Given the description of an element on the screen output the (x, y) to click on. 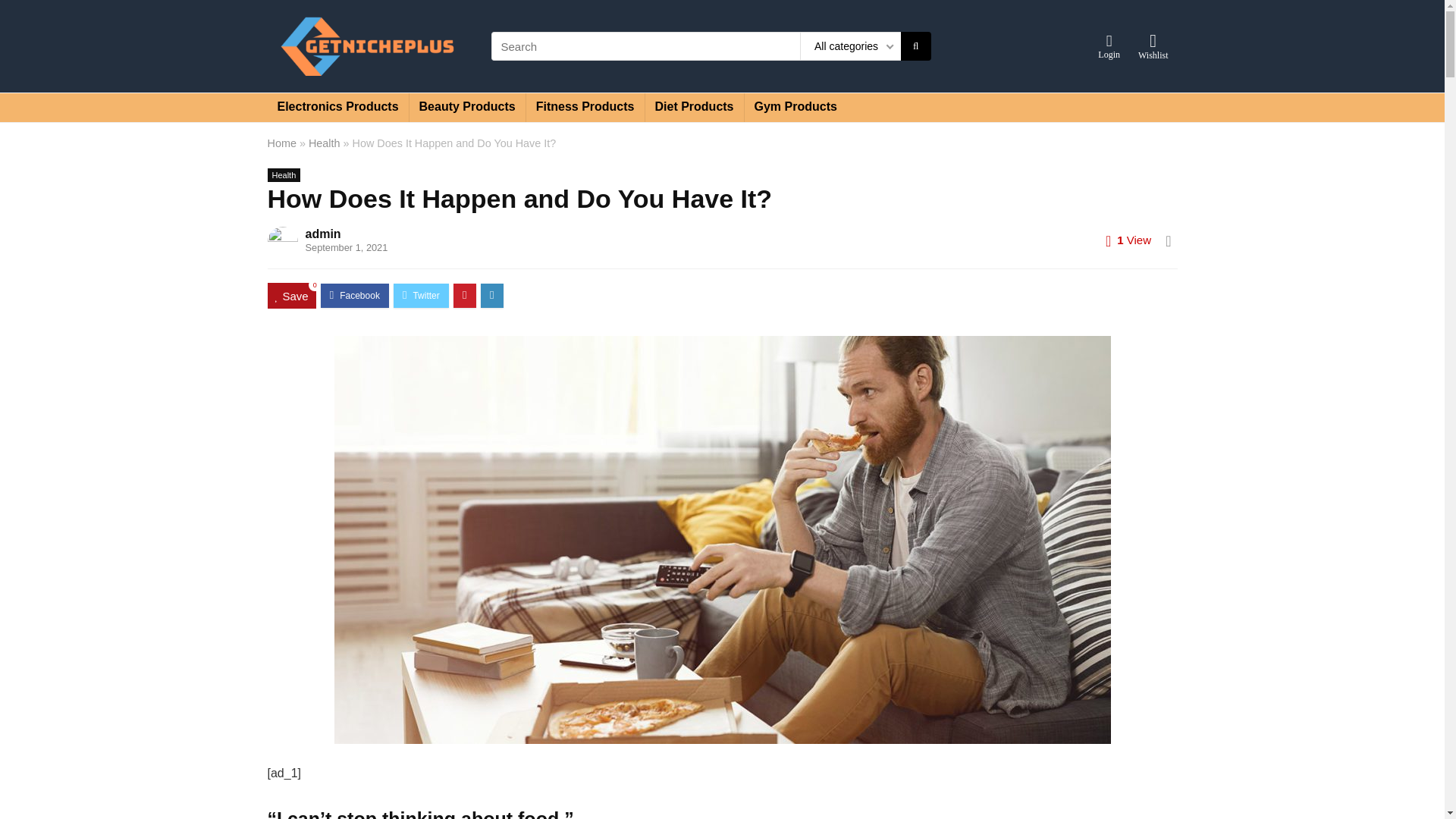
Health (324, 143)
Electronics Products (336, 107)
Home (280, 143)
admin (322, 233)
View all posts in Health (282, 174)
Diet Products (693, 107)
Beauty Products (467, 107)
Fitness Products (585, 107)
Health (282, 174)
